Given the description of an element on the screen output the (x, y) to click on. 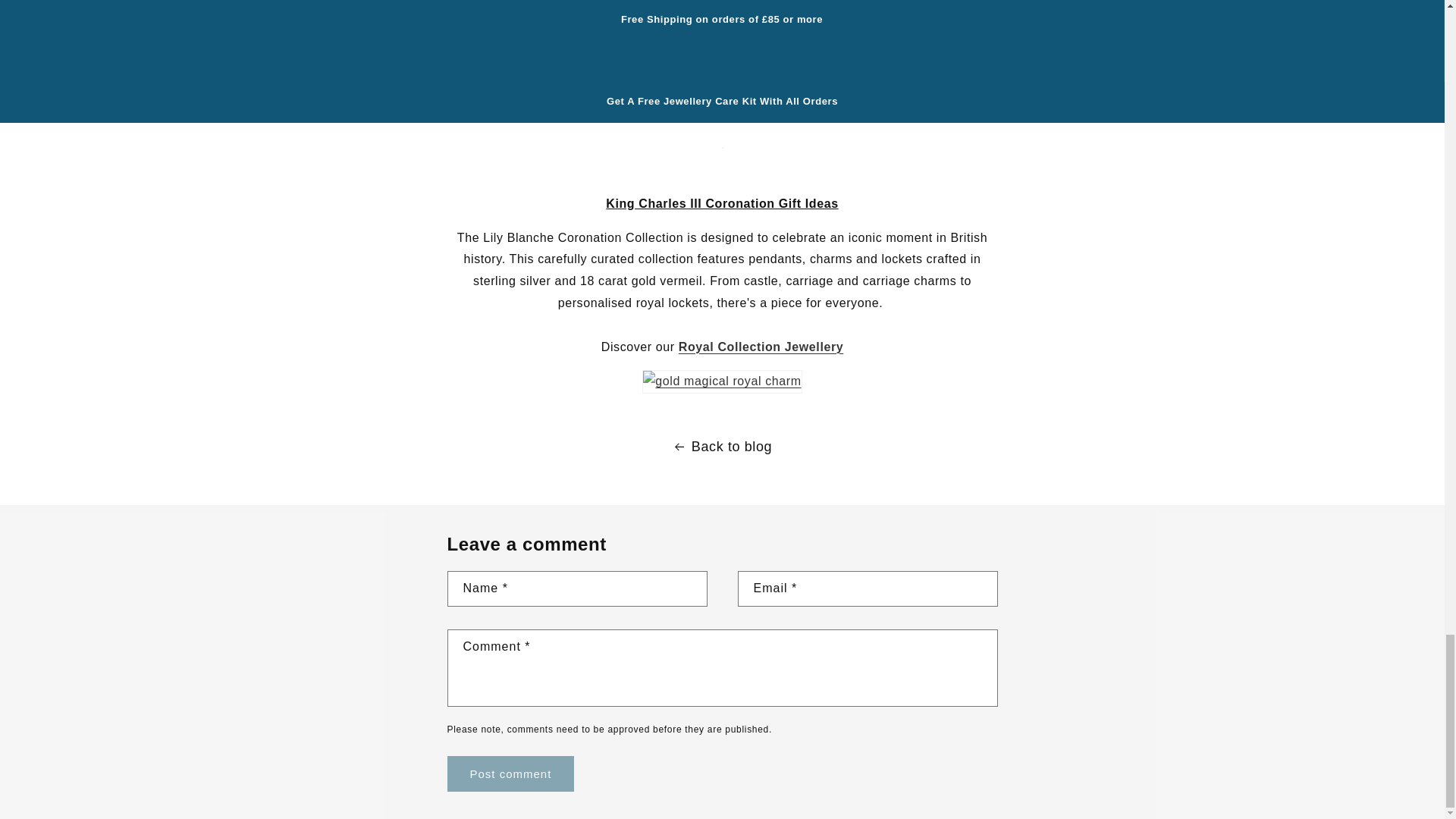
Post comment (510, 773)
gold magical royal charm (722, 381)
